Given the description of an element on the screen output the (x, y) to click on. 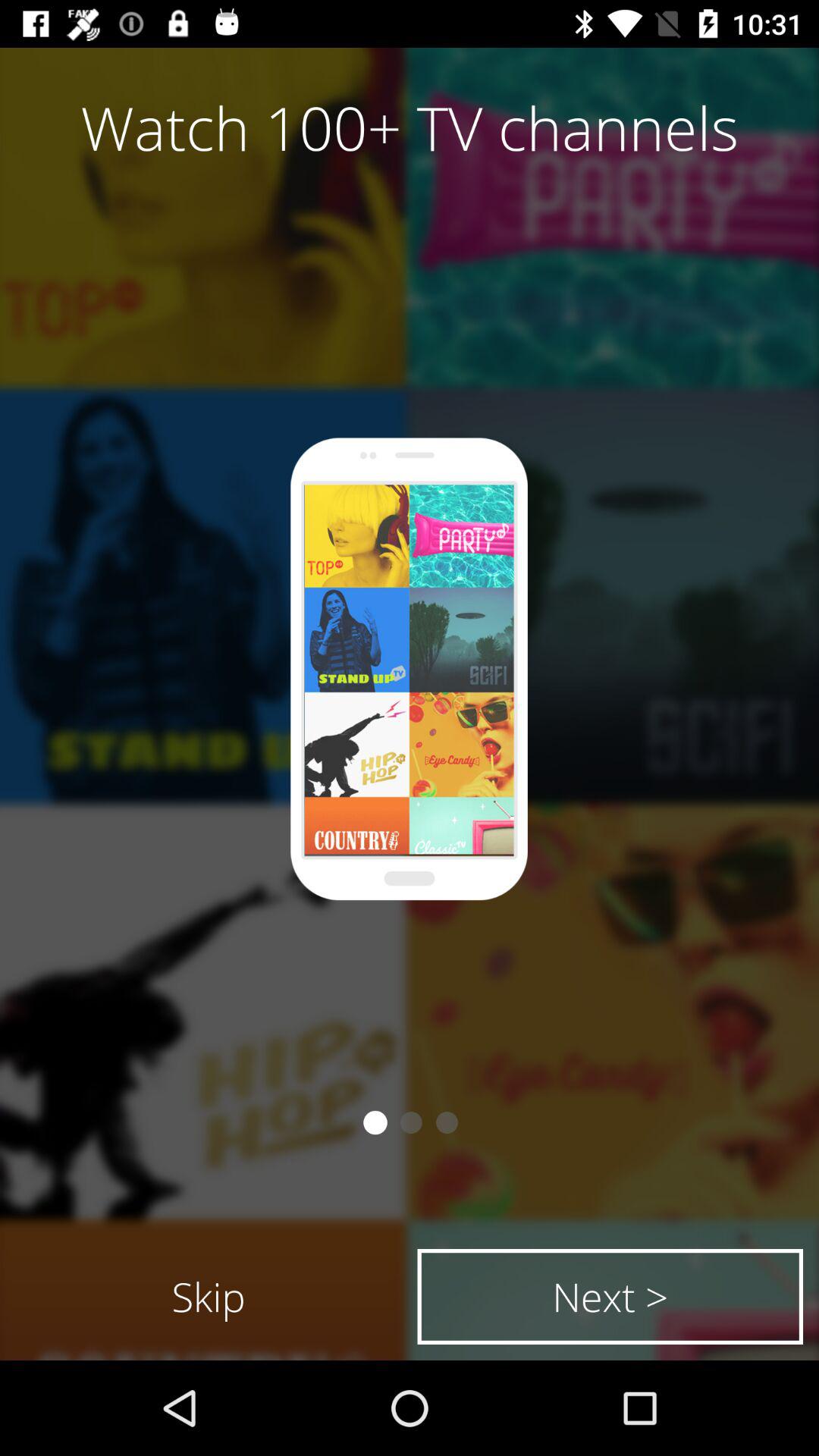
flip to skip item (208, 1296)
